Given the description of an element on the screen output the (x, y) to click on. 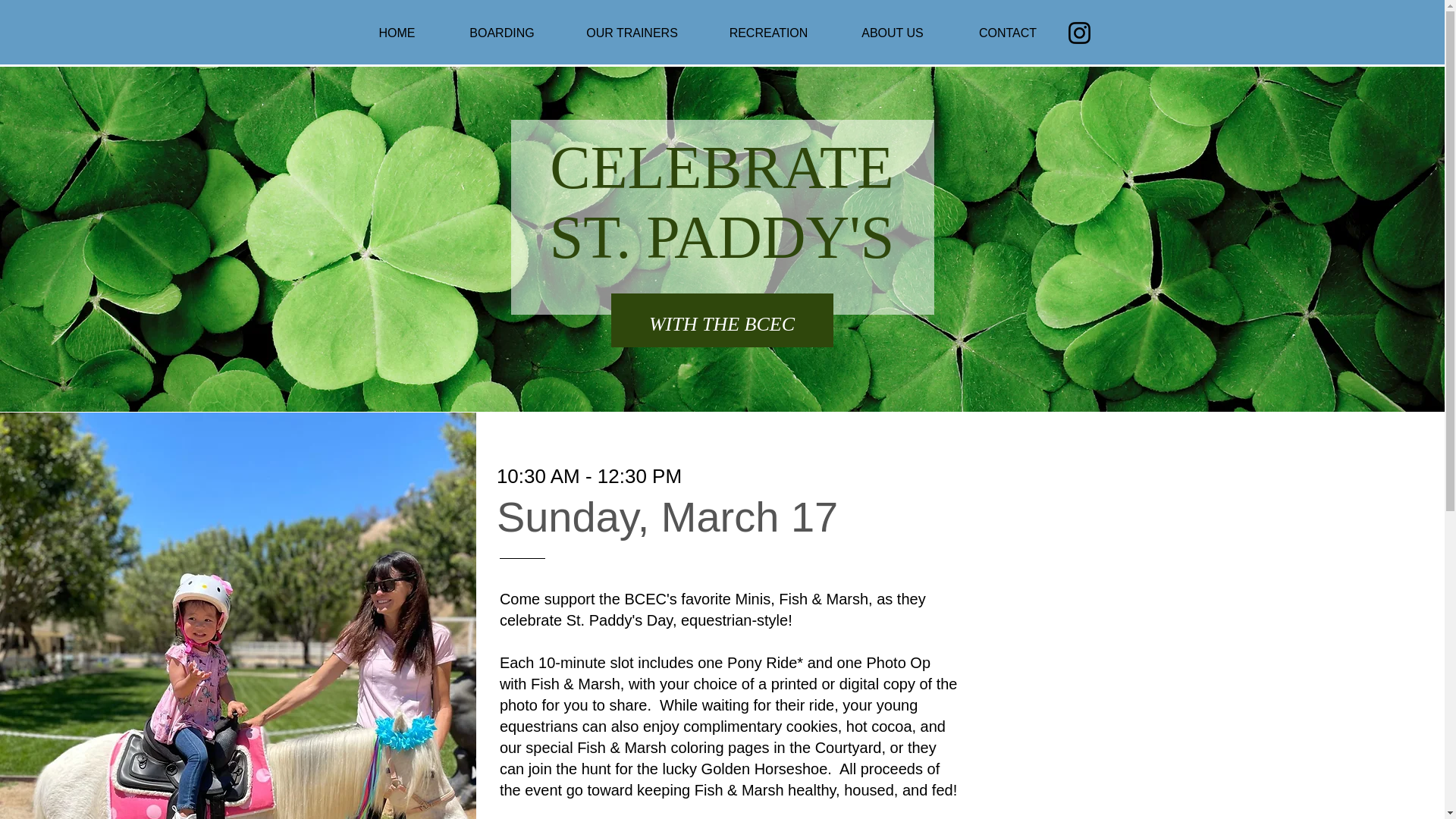
RECREATION (768, 33)
BOARDING (501, 33)
ABOUT US (893, 33)
HOME (396, 33)
CONTACT (1007, 33)
